Given the description of an element on the screen output the (x, y) to click on. 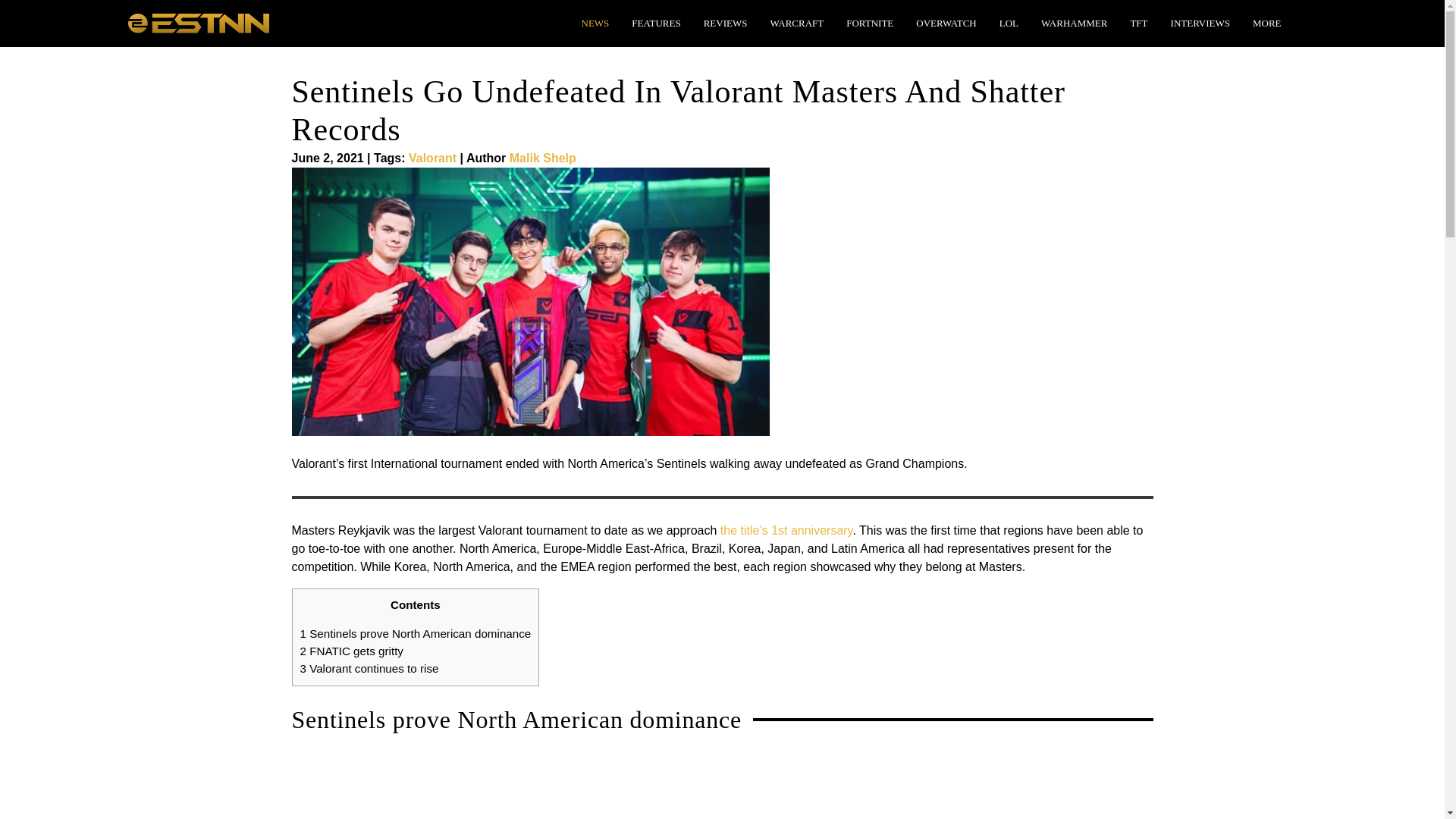
FORTNITE (869, 23)
Malik Shelp (542, 157)
1 Sentinels prove North American dominance (415, 633)
INTERVIEWS (1200, 23)
Home (197, 21)
WARHAMMER (1074, 23)
REVIEWS (725, 23)
OVERWATCH (946, 23)
2 FNATIC gets gritty (351, 650)
Posts by Malik Shelp (542, 157)
